Given the description of an element on the screen output the (x, y) to click on. 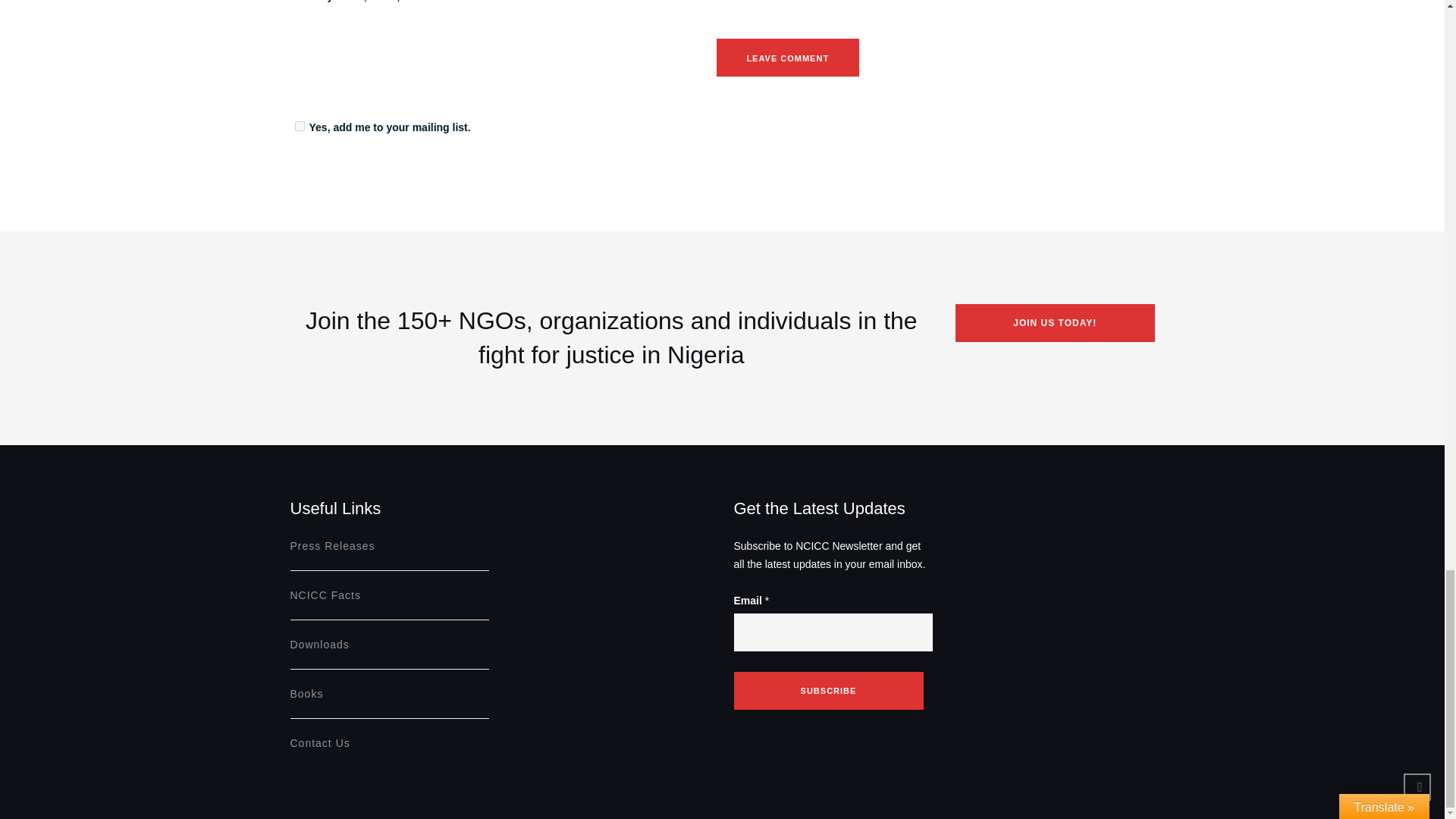
Subscribe (828, 690)
NCICC Facts (324, 594)
Downloads (319, 644)
JOIN US TODAY! (1054, 322)
Books (306, 693)
Leave Comment (787, 57)
Press Releases (331, 545)
Contact Us (319, 743)
Subscribe (828, 690)
Leave Comment (787, 57)
